Given the description of an element on the screen output the (x, y) to click on. 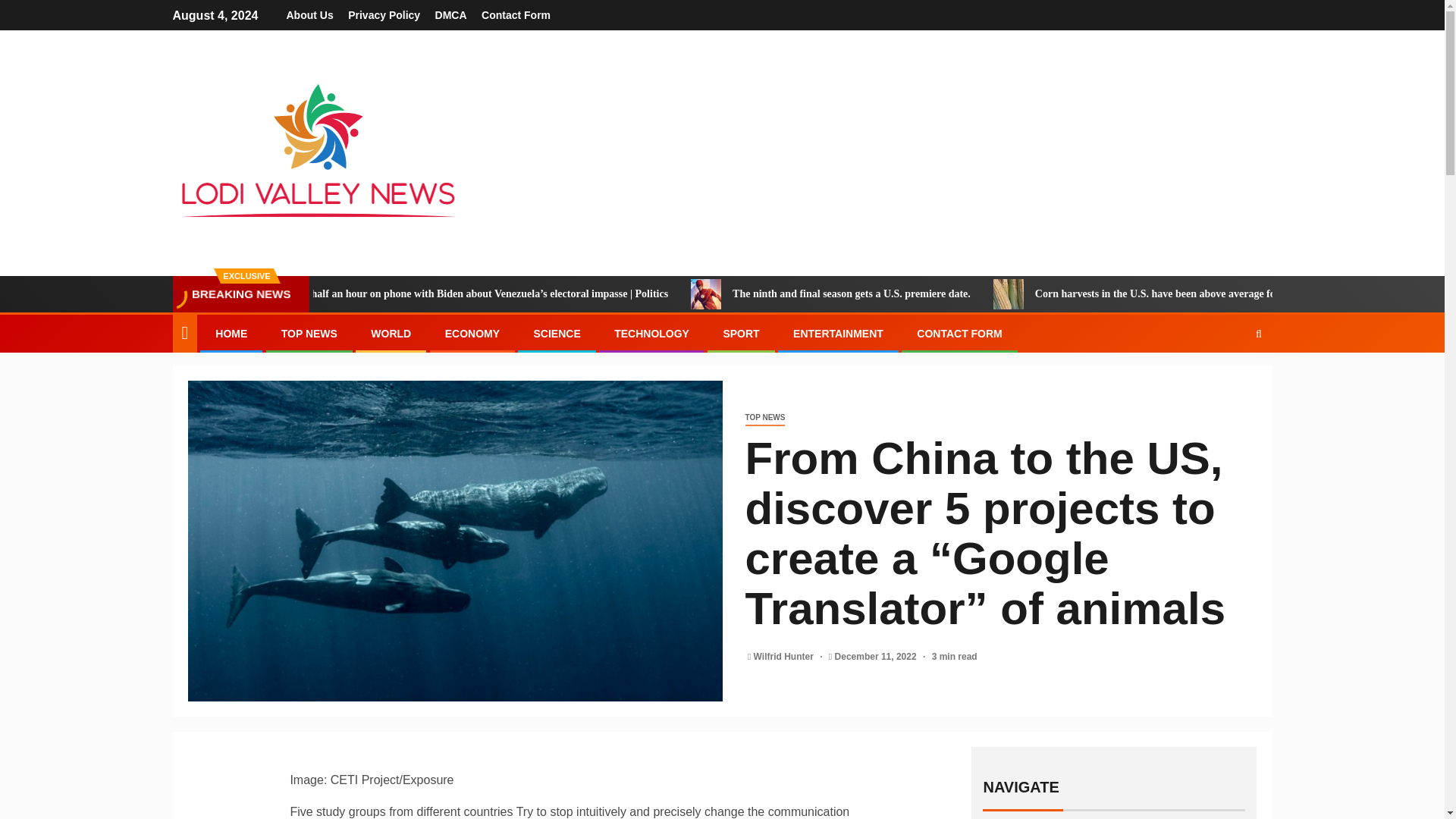
HOME (231, 333)
WORLD (390, 333)
The ninth and final season gets a U.S. premiere date. (945, 294)
Search (1229, 379)
CONTACT FORM (960, 333)
TECHNOLOGY (651, 333)
DMCA (451, 15)
TOP NEWS (309, 333)
ENTERTAINMENT (838, 333)
About Us (309, 15)
Contact Form (515, 15)
TOP NEWS (764, 417)
The ninth and final season gets a U.S. premiere date. (782, 294)
ECONOMY (472, 333)
